Given the description of an element on the screen output the (x, y) to click on. 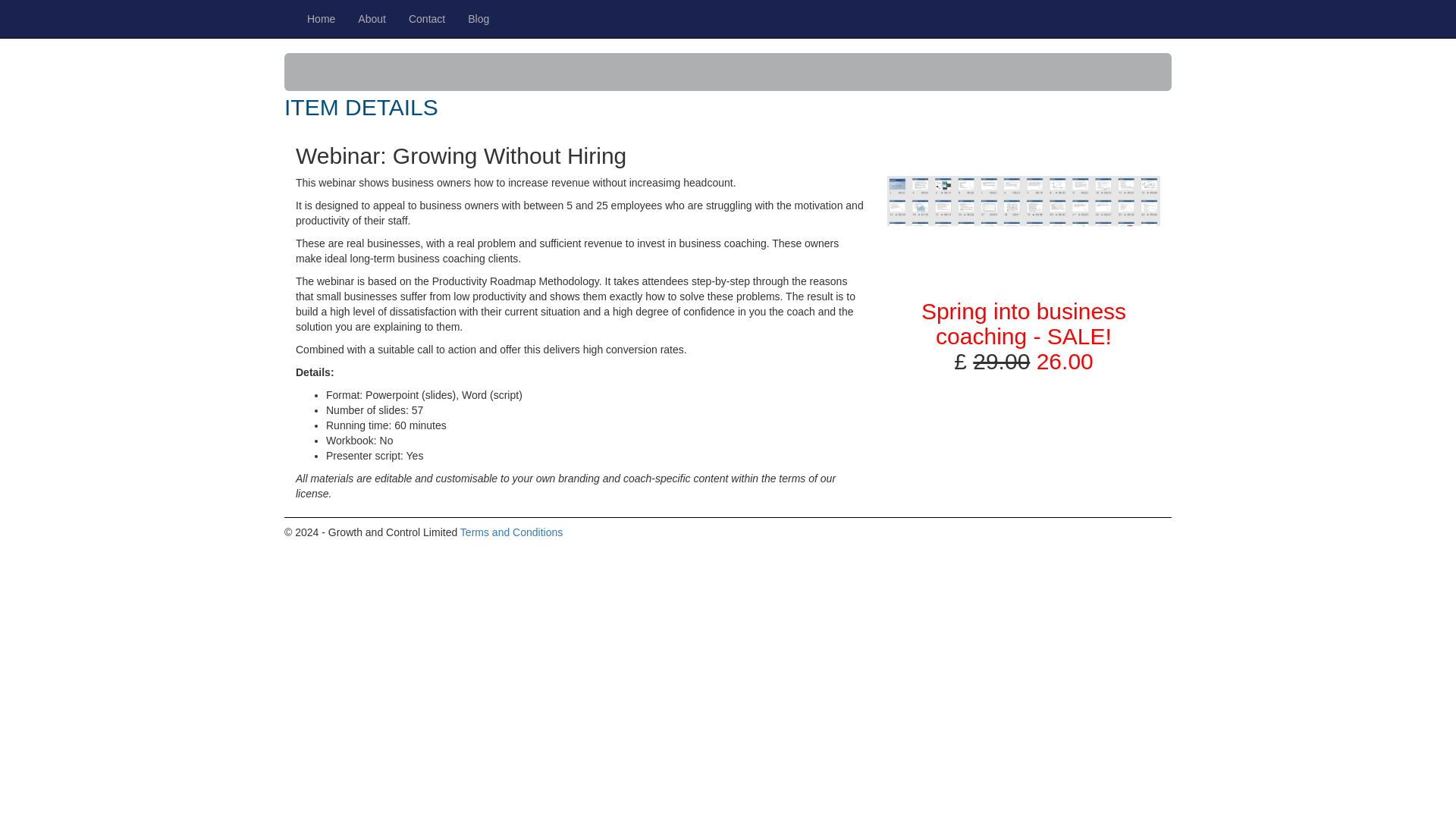
Home (320, 18)
PayPal (1023, 431)
About (371, 18)
Contact (427, 18)
Terms and Conditions (511, 532)
Blog (478, 18)
